Given the description of an element on the screen output the (x, y) to click on. 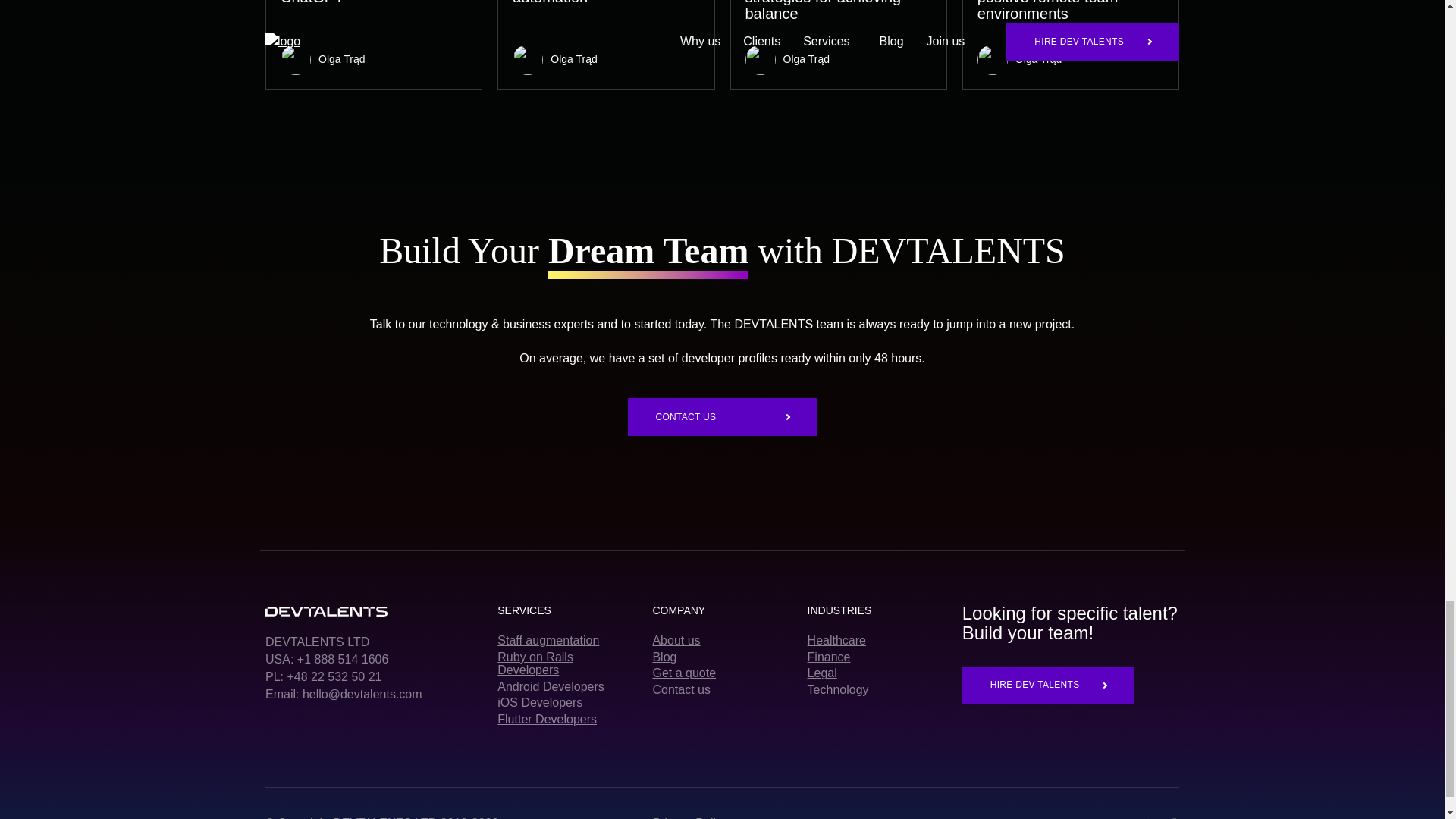
Continue reading (837, 45)
Continue reading (1070, 45)
Continue reading (372, 45)
CONTACT US (721, 416)
Ruby on Rails Developers (567, 663)
Staff augmentation (567, 640)
Continue reading (605, 45)
Android Developers (567, 686)
